Given the description of an element on the screen output the (x, y) to click on. 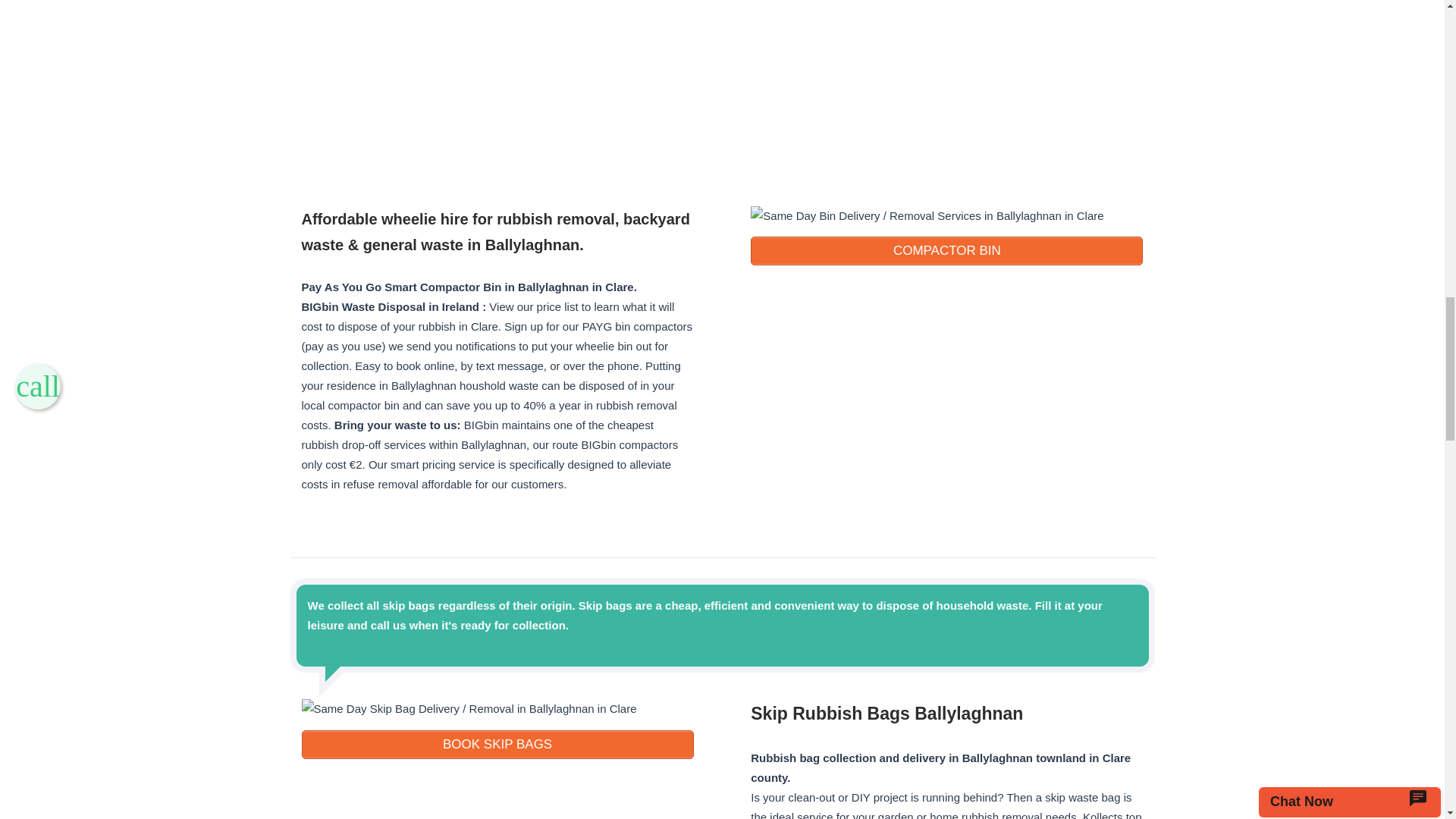
COMPACTOR BIN (946, 250)
COMPACTOR BIN (946, 250)
RENT RUBBISH BAGS (497, 744)
BOOK SKIP BAGS (497, 744)
